Given the description of an element on the screen output the (x, y) to click on. 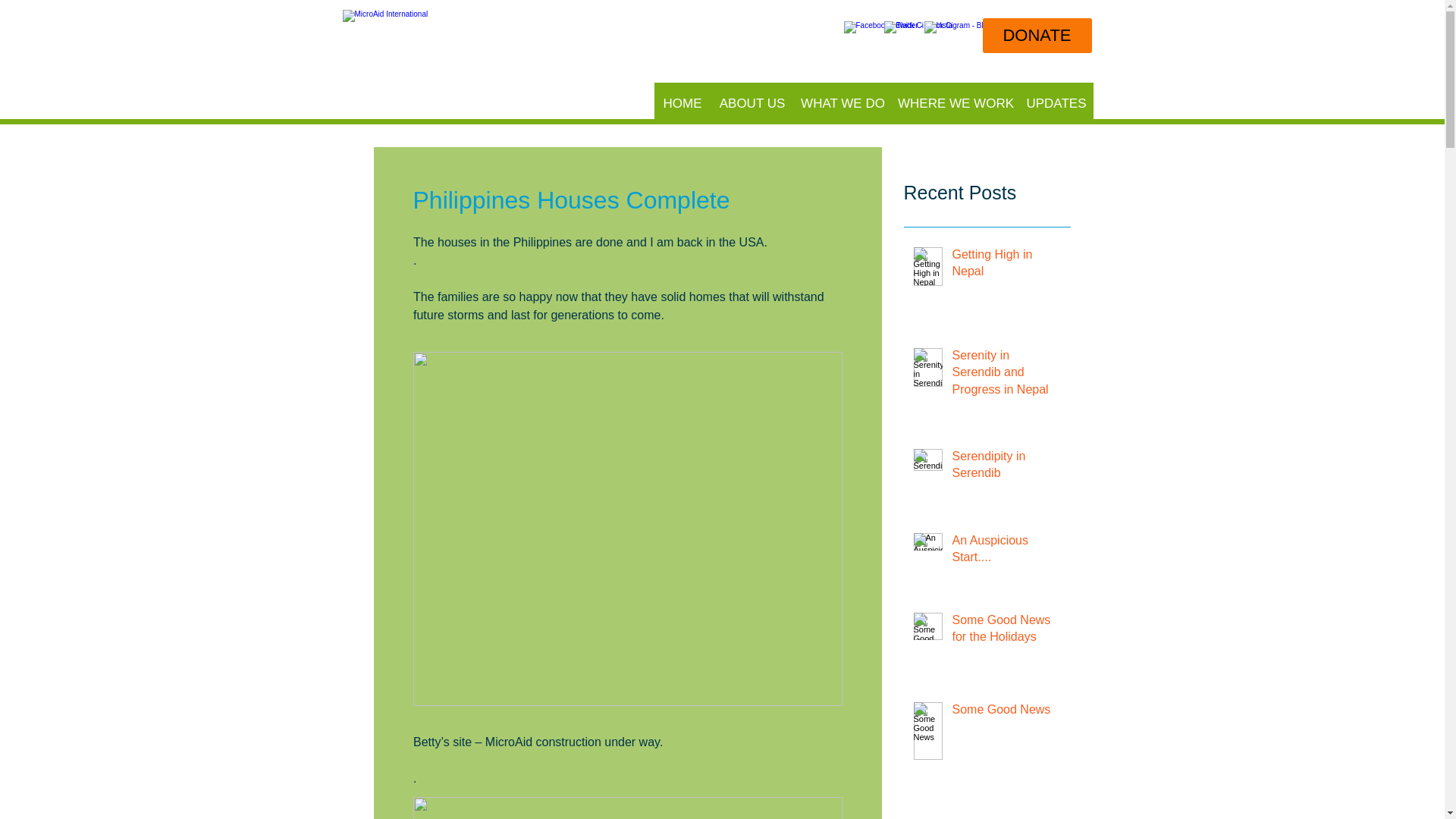
Serenity in Serendib and Progress in Nepal (1006, 375)
DONATE (1037, 35)
Some Good News (1006, 712)
UPDATES (1056, 103)
Some Good News for the Holidays (1006, 631)
ABOUT US (752, 103)
Serendipity in Serendib (1006, 467)
HOME (681, 103)
An Auspicious Start.... (1006, 552)
Getting High in Nepal (1006, 266)
